Given the description of an element on the screen output the (x, y) to click on. 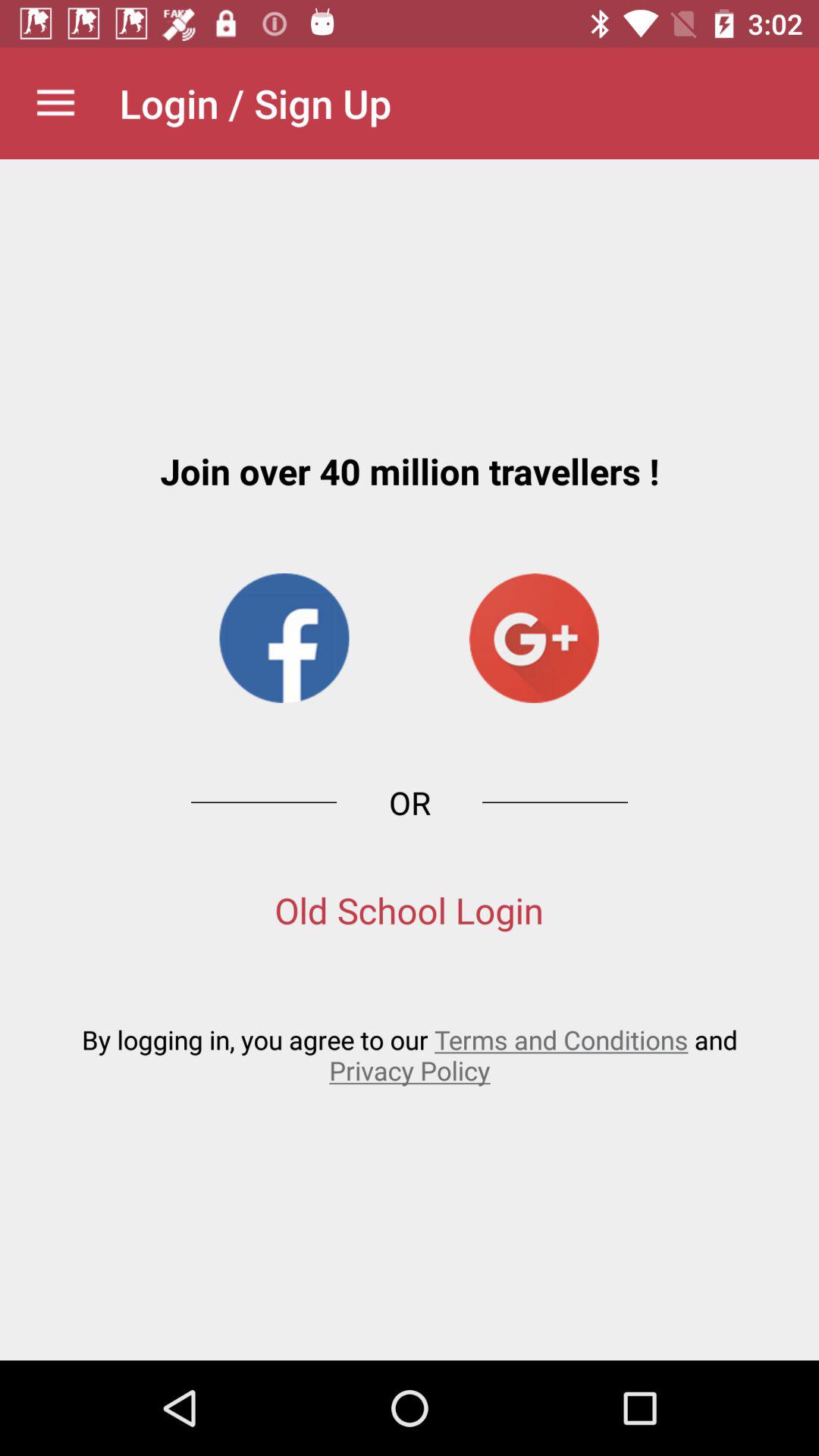
turn on the item below the join over 40 item (284, 637)
